Given the description of an element on the screen output the (x, y) to click on. 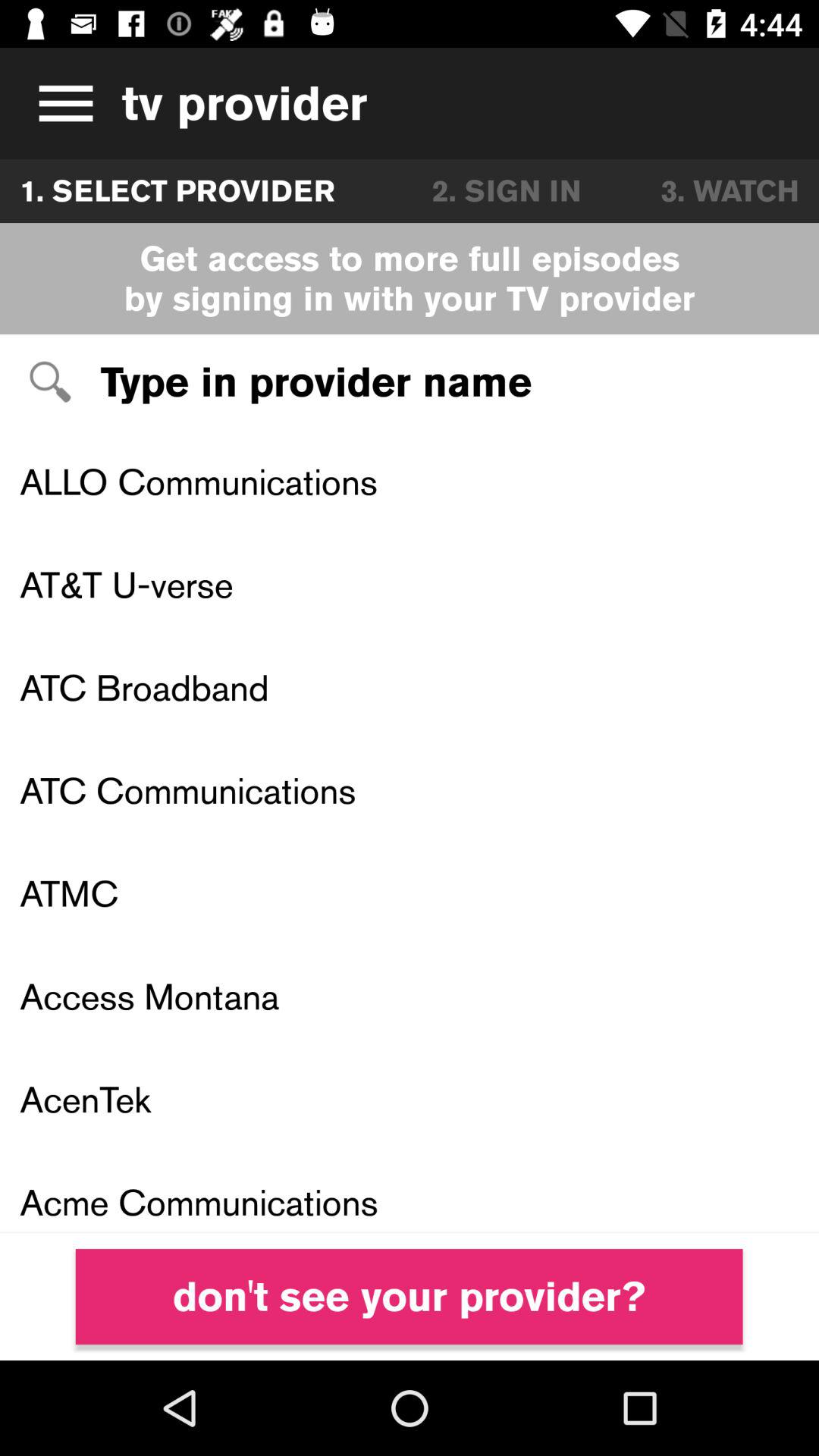
toggle menu (60, 103)
